Given the description of an element on the screen output the (x, y) to click on. 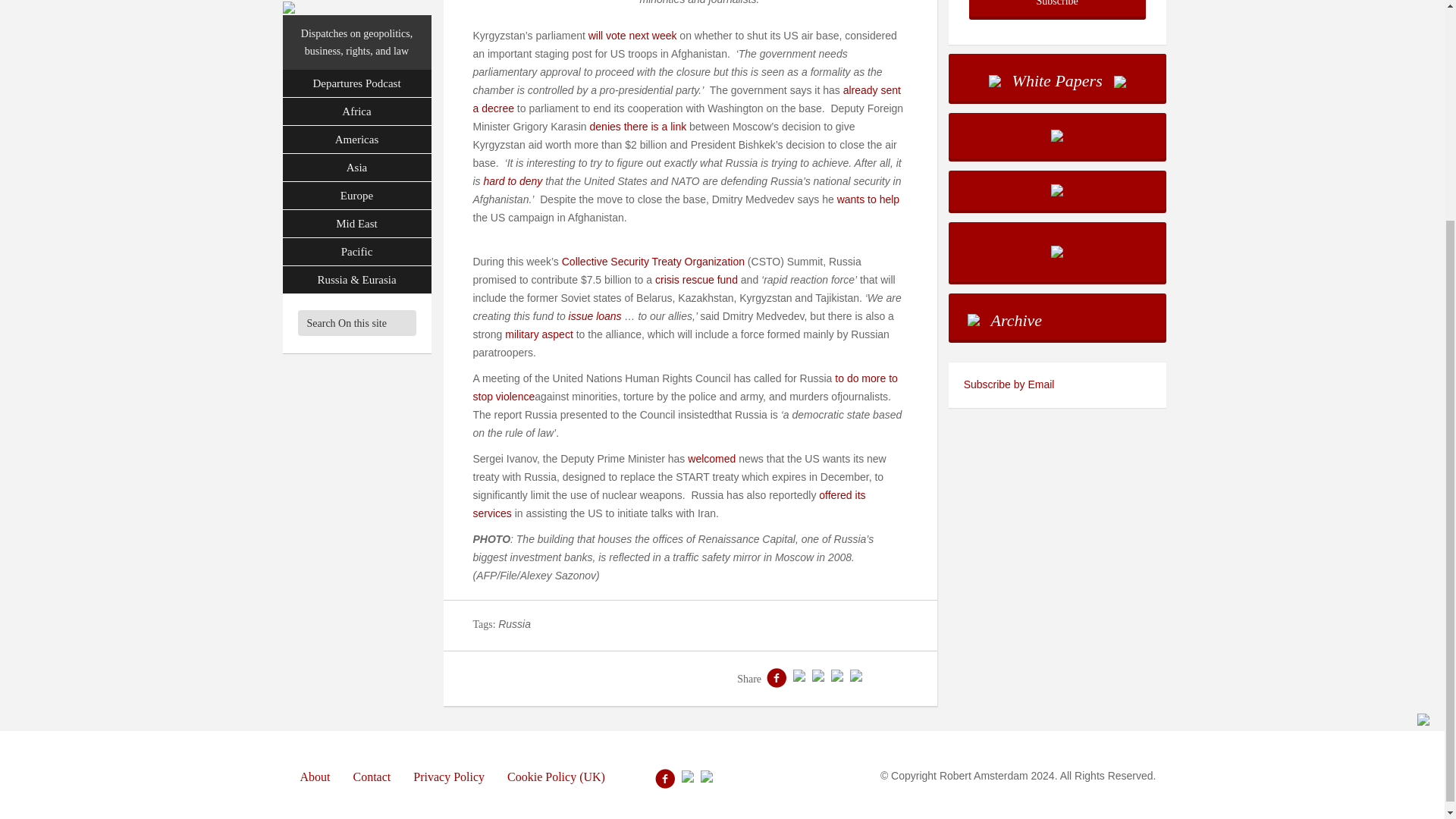
denies there is a link (638, 126)
issue loans (595, 316)
crisis rescue fund (696, 279)
Russia (514, 623)
Collective Security Treaty Organization (653, 261)
Subscribe to the Robert Amsterdam feed by email (1057, 384)
Europe (356, 7)
military aspect (538, 334)
welcomed (711, 458)
Subscribe (1057, 8)
